Given the description of an element on the screen output the (x, y) to click on. 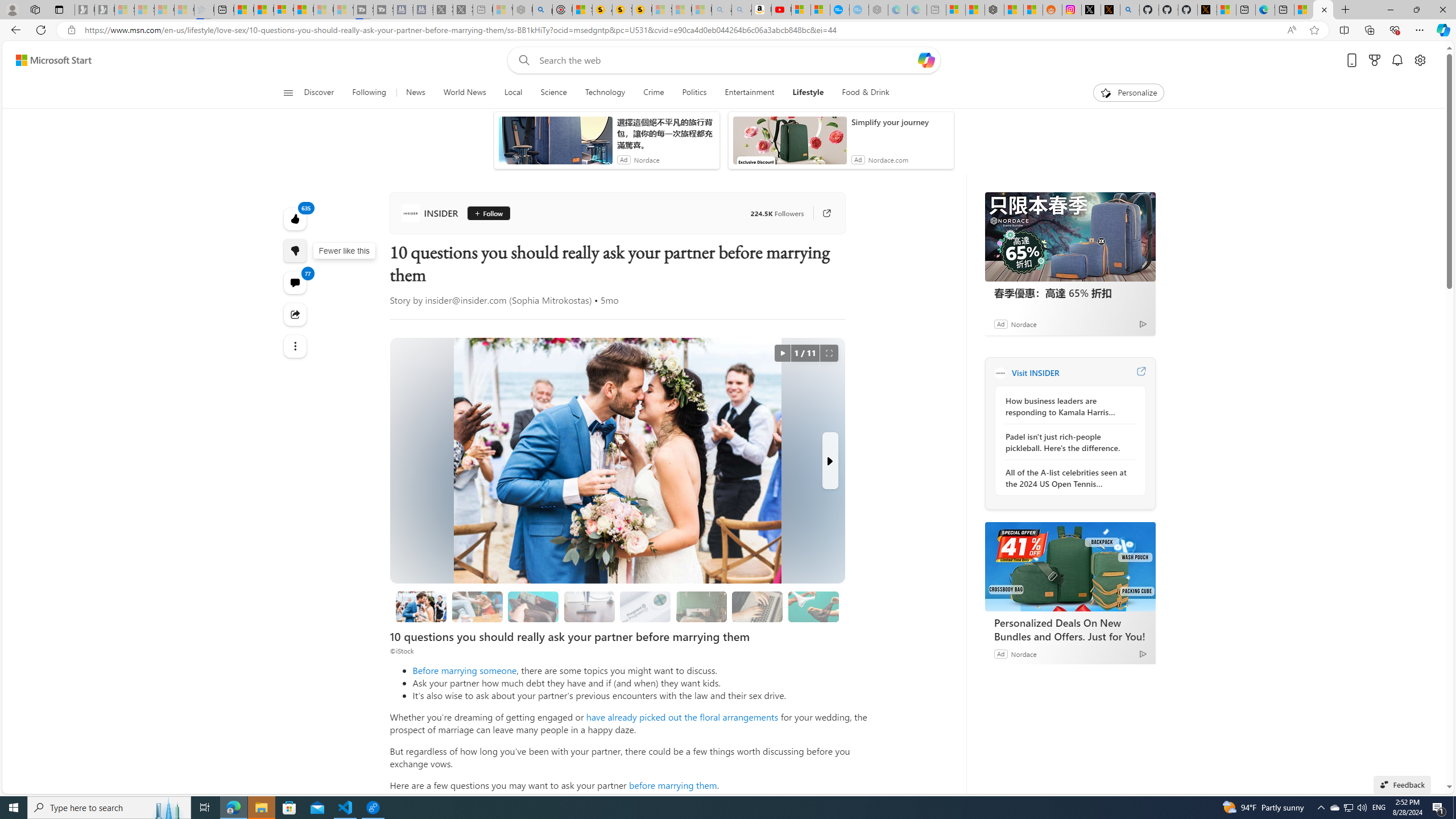
Crime (653, 92)
635 Like (295, 218)
Address and search bar (680, 29)
Open settings (1420, 60)
Amazon Echo Dot PNG - Search Images - Sleeping (741, 9)
Open Copilot (925, 59)
Personalize (1128, 92)
Science (553, 92)
Workspaces (34, 9)
Entertainment (749, 92)
Shades of green get dated too quickly. (700, 606)
Read aloud this page (Ctrl+Shift+U) (1291, 29)
